Given the description of an element on the screen output the (x, y) to click on. 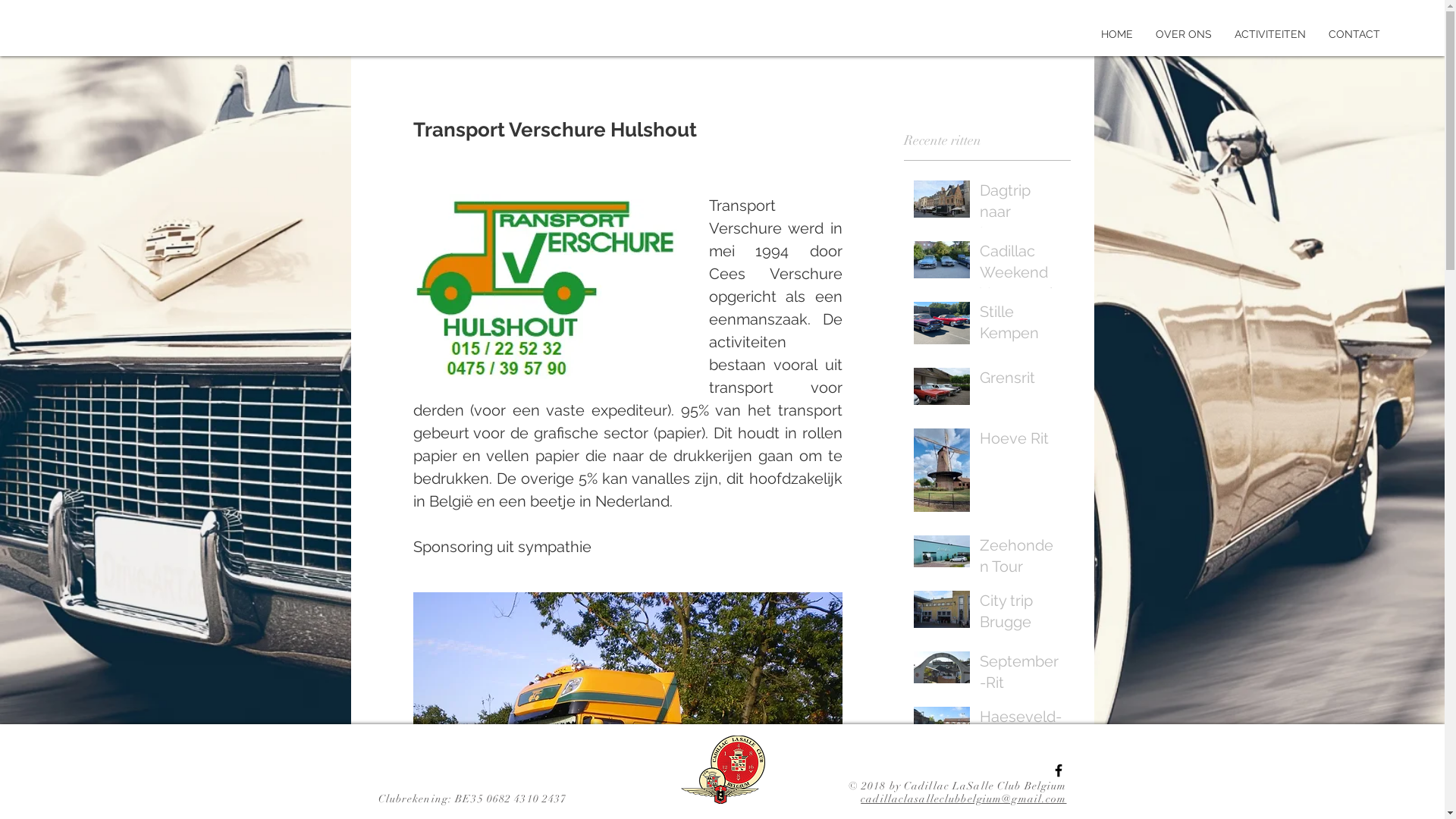
Stille Kempen Element type: text (1020, 325)
cadillaclasalleclubbelgium@gmail.com Element type: text (963, 798)
September-Rit Element type: text (1020, 674)
ACTIVITEITEN Element type: text (1270, 34)
Dagtrip naar Leuven Element type: text (1020, 214)
Haeseveld-rit Element type: text (1020, 730)
City trip Brugge Element type: text (1020, 613)
OVER ONS Element type: text (1183, 34)
CONTACT Element type: text (1354, 34)
HOME Element type: text (1116, 34)
Cadillac Weekend Voerstreek Element type: text (1020, 275)
Zeehonden Tour Element type: text (1020, 558)
Grensrit Element type: text (1020, 380)
Hoeve Rit Element type: text (1020, 441)
Cadillac LaSalle Club Belgium Element type: text (984, 785)
